Given the description of an element on the screen output the (x, y) to click on. 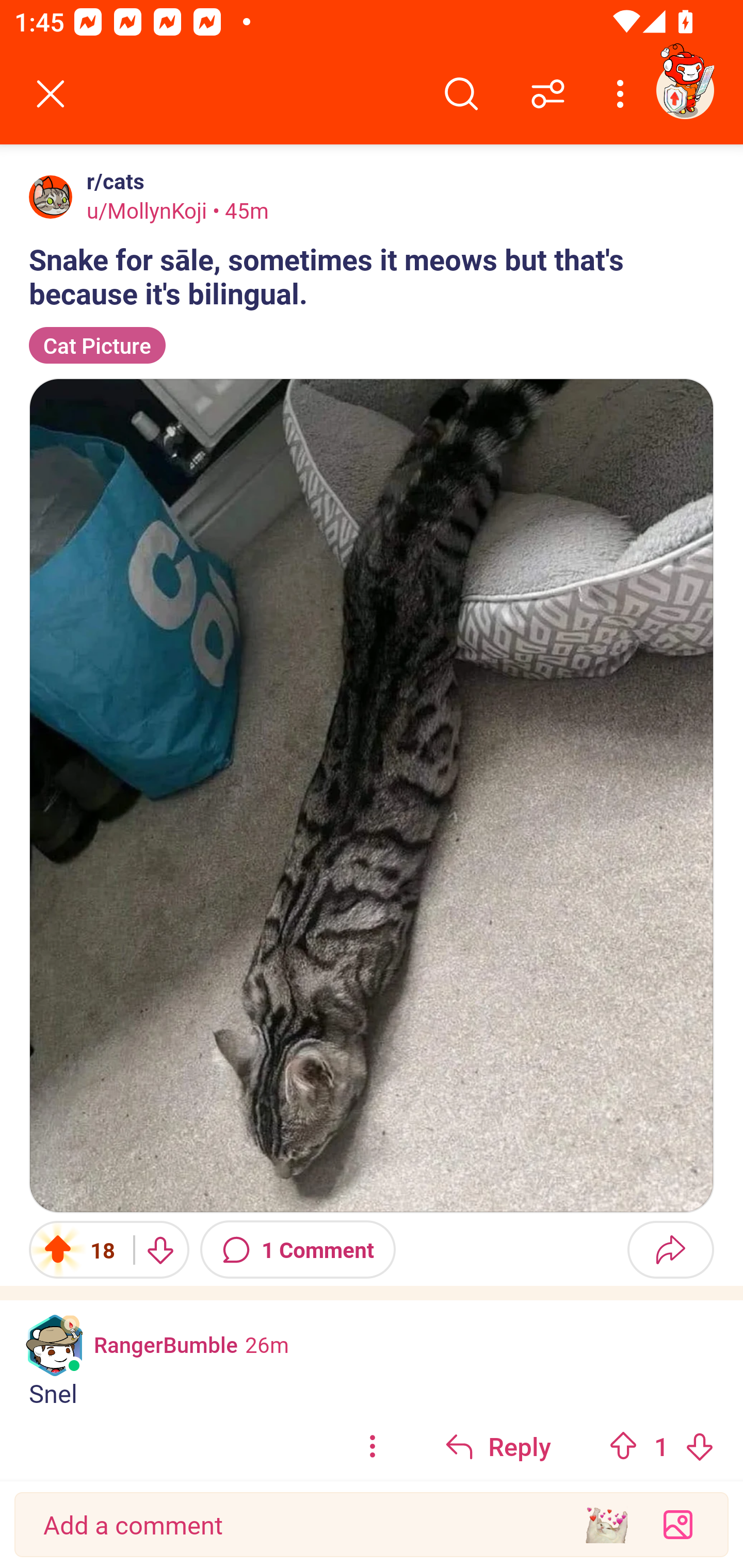
Back (50, 93)
TestAppium002 account (685, 90)
Search comments (460, 93)
Sort comments (547, 93)
More options (623, 93)
r/cats (111, 181)
Avatar (50, 196)
u/MollynKoji (146, 210)
Cat Picture (96, 345)
Image (371, 795)
Upvote 18 Downvote 1 Comment Share (371, 1249)
Downvote (158, 1249)
1 Comment (297, 1249)
Share (670, 1249)
26m (267, 1344)
Snel (371, 1392)
options (372, 1445)
Reply (498, 1445)
